Given the description of an element on the screen output the (x, y) to click on. 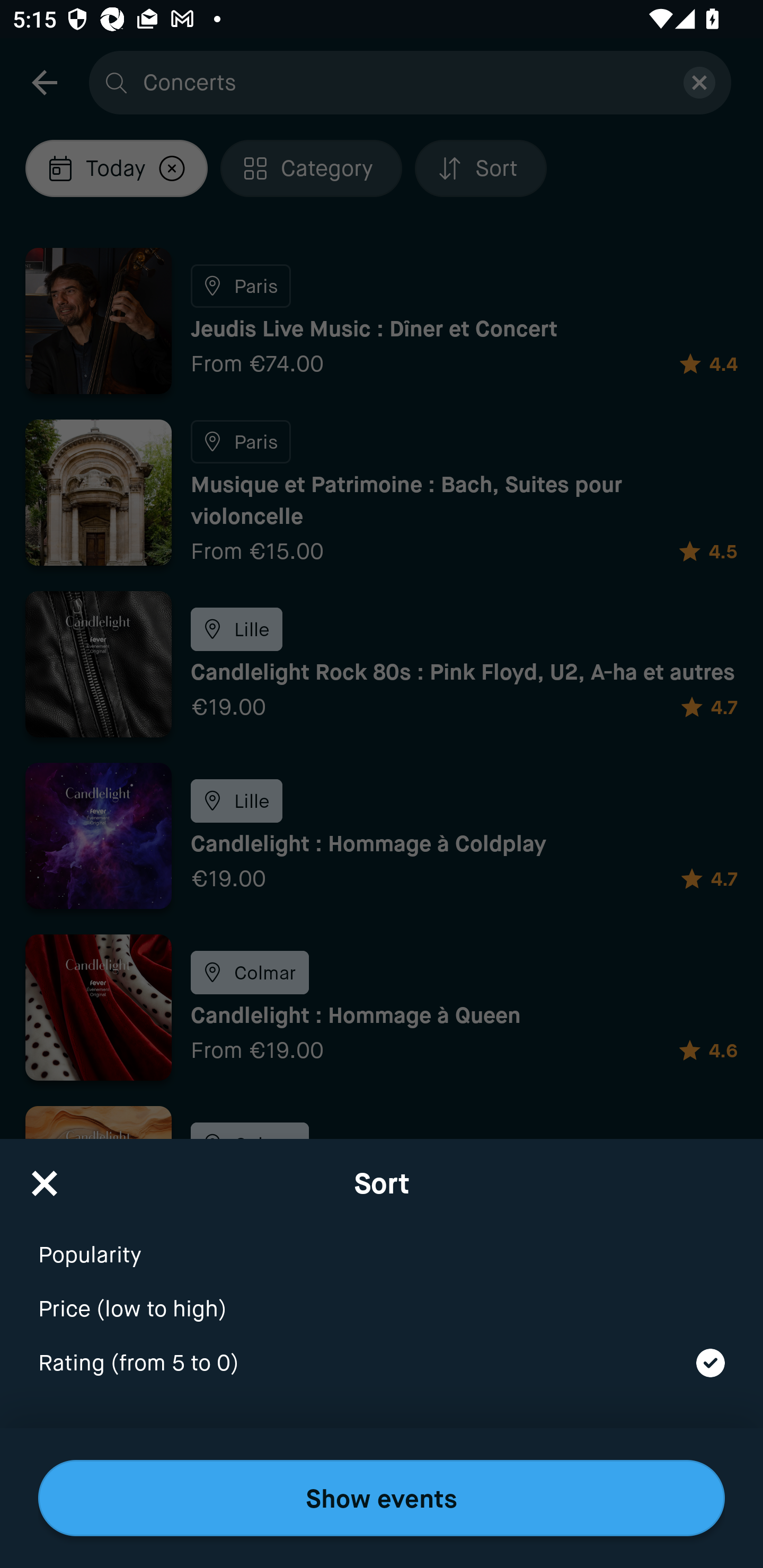
CloseButton (44, 1177)
Popularity (381, 1243)
Price (low to high) (381, 1297)
Rating (from 5 to 0) Selected Icon (381, 1362)
Show events (381, 1497)
